Given the description of an element on the screen output the (x, y) to click on. 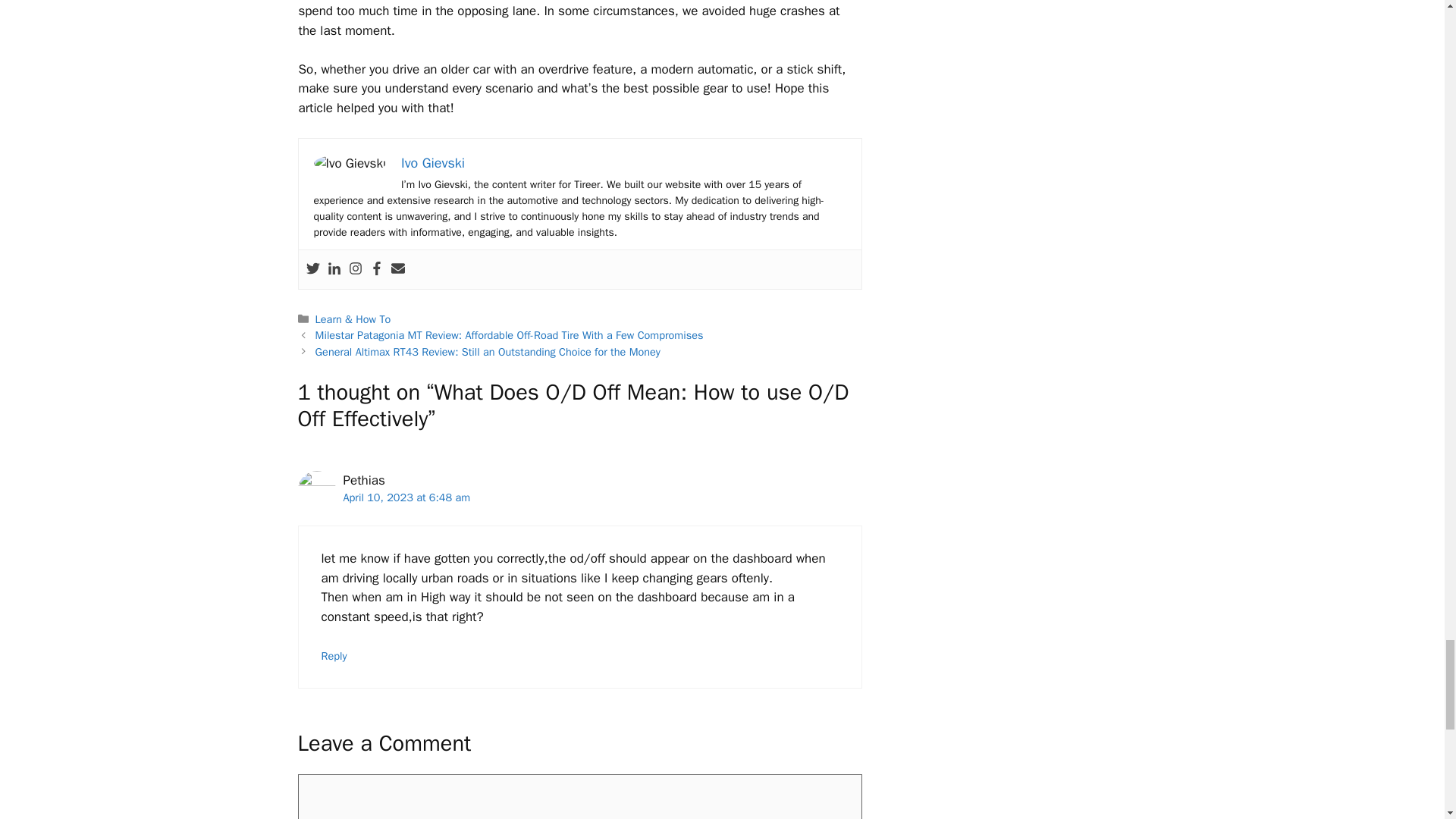
Ivo Gievski (432, 162)
